Given the description of an element on the screen output the (x, y) to click on. 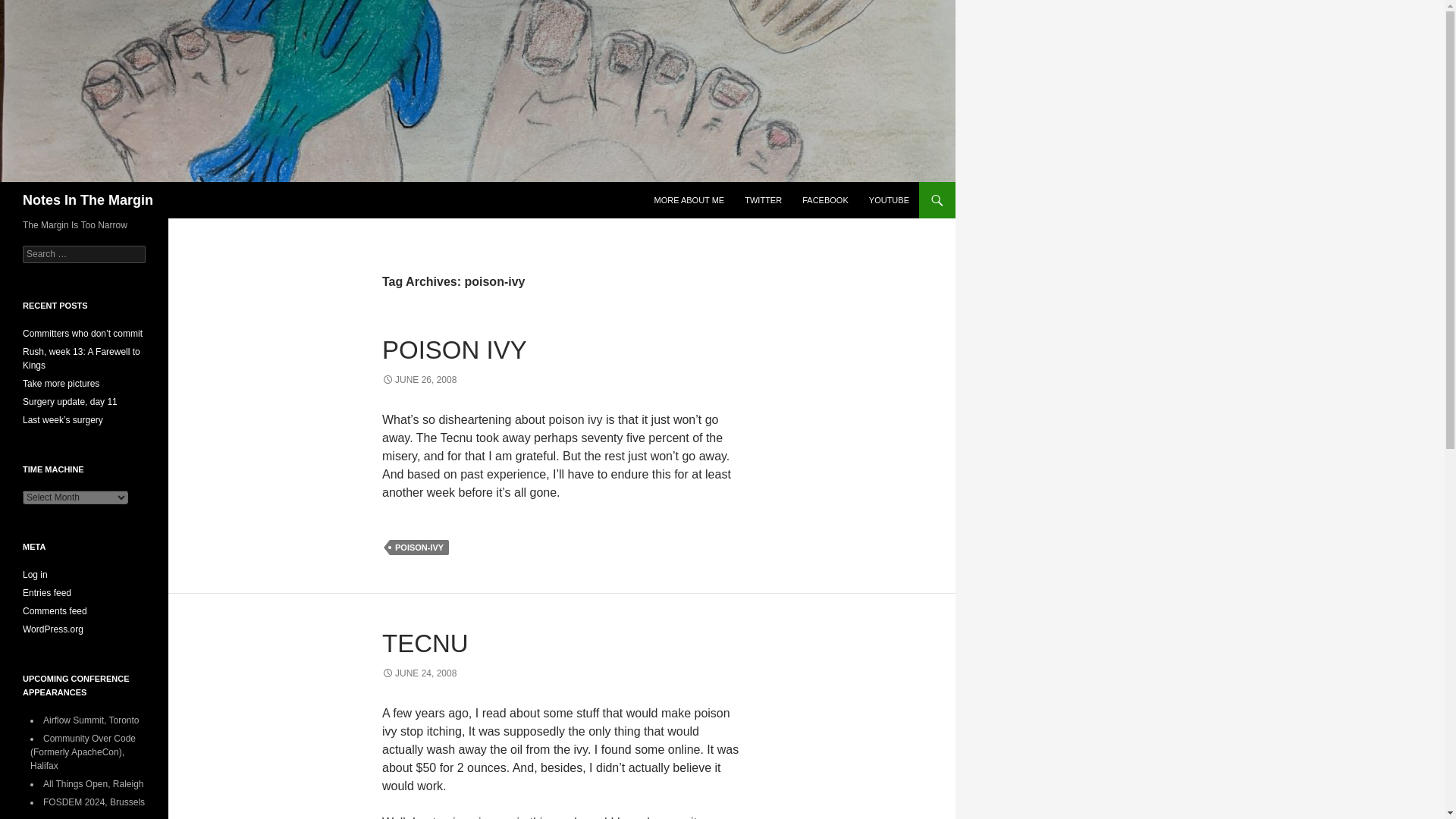
Entries feed (47, 593)
YOUTUBE (889, 199)
TECNU (424, 643)
JUNE 24, 2008 (419, 673)
MORE ABOUT ME (689, 199)
Log in (35, 574)
Search (30, 8)
Take more pictures (61, 383)
JUNE 26, 2008 (419, 379)
TWITTER (762, 199)
WordPress.org (52, 629)
POISON-IVY (419, 547)
Rush, week 13: A Farewell to Kings (81, 358)
POISON IVY (454, 349)
